Given the description of an element on the screen output the (x, y) to click on. 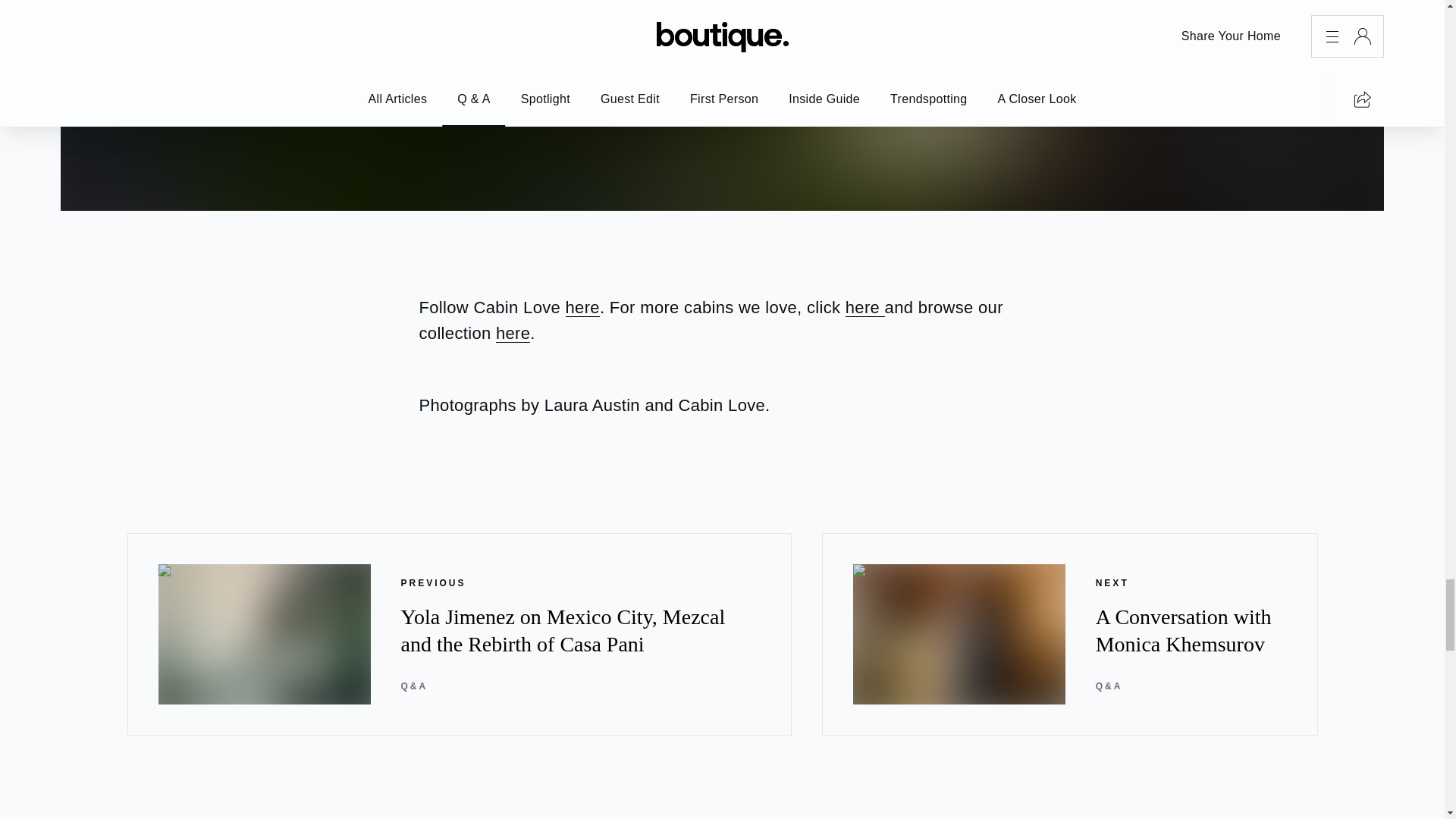
here (512, 333)
here (865, 307)
here (582, 307)
